Given the description of an element on the screen output the (x, y) to click on. 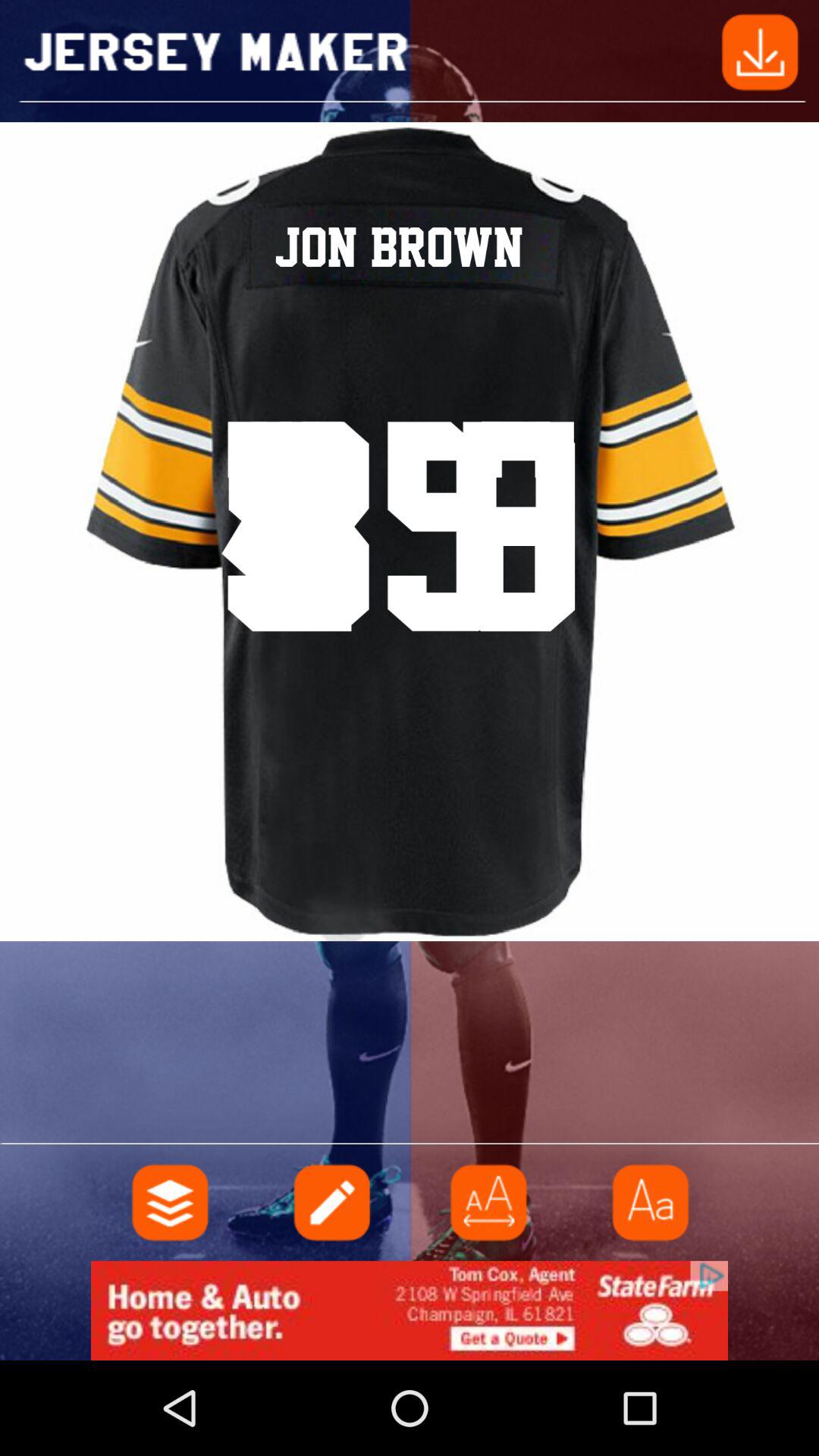
modify text formatting (648, 1202)
